Given the description of an element on the screen output the (x, y) to click on. 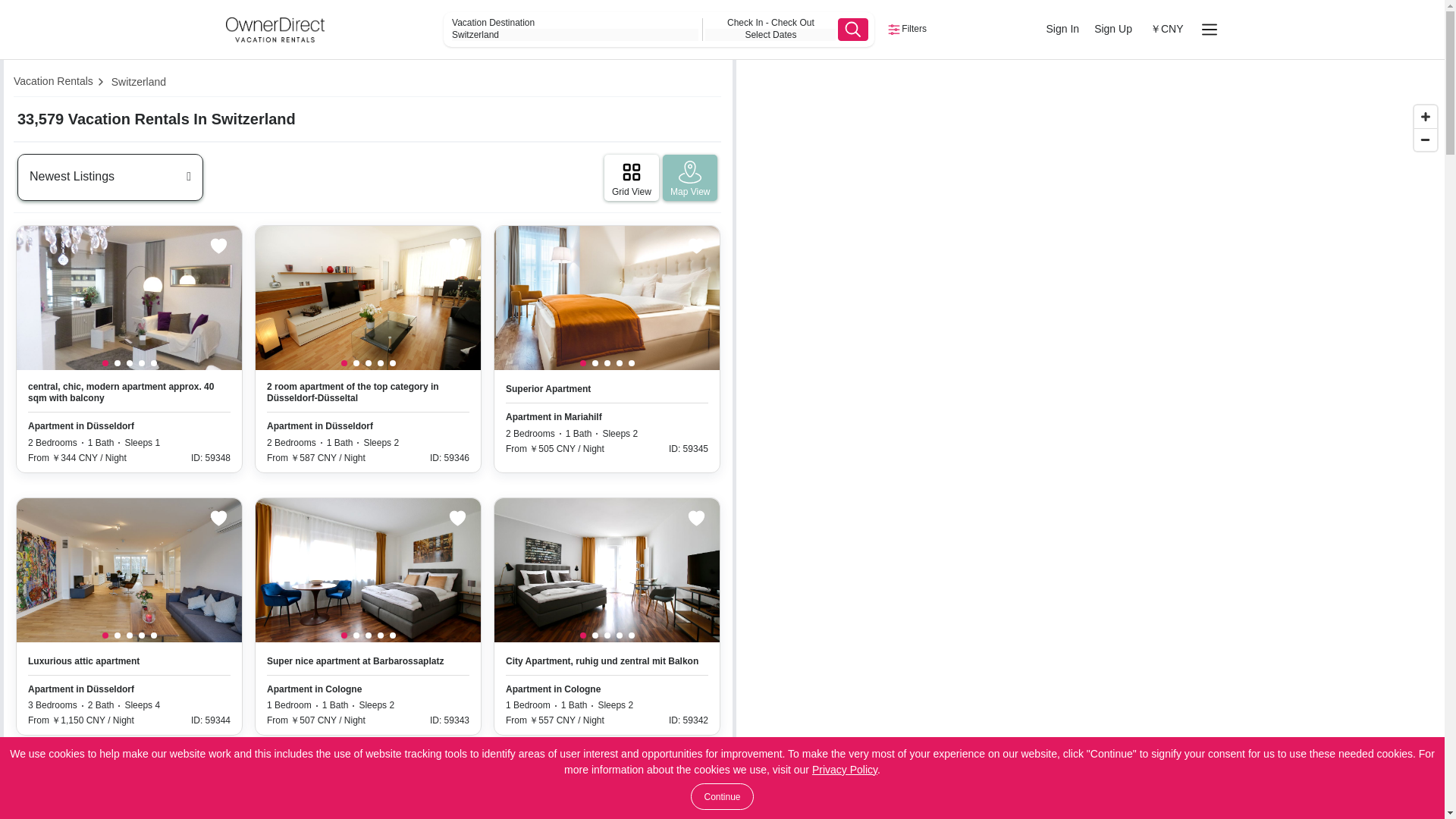
Sign Up (1113, 29)
Search (852, 29)
Sign In (1063, 29)
Filters (906, 29)
Switzerland (574, 34)
